Given the description of an element on the screen output the (x, y) to click on. 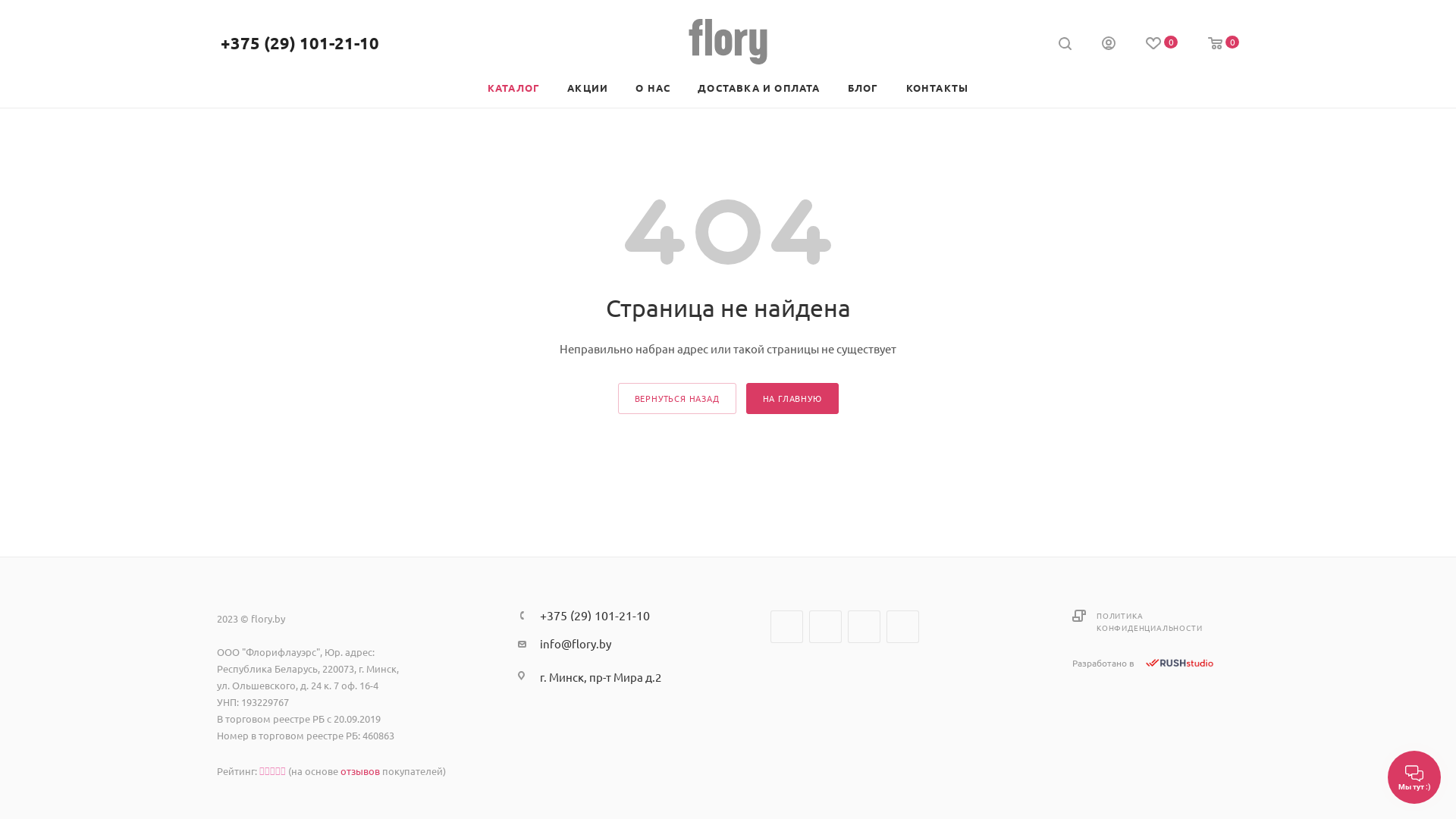
Instagram Element type: text (786, 626)
flory.by Element type: hover (727, 41)
MasterCard Element type: hover (812, 676)
info@flory.by Element type: text (575, 643)
0 Element type: text (1223, 43)
Viber Element type: text (863, 626)
Cash Element type: hover (777, 676)
Telegram Element type: text (825, 626)
WhatsApp Element type: text (902, 626)
Belkart Element type: hover (960, 676)
+375 (29) 101-21-10 Element type: text (299, 41)
0 Element type: text (1161, 43)
Visa Element type: hover (850, 676)
Alfa Element type: hover (885, 676)
Mir Element type: hover (921, 676)
+375 (29) 101-21-10 Element type: text (594, 614)
